Given the description of an element on the screen output the (x, y) to click on. 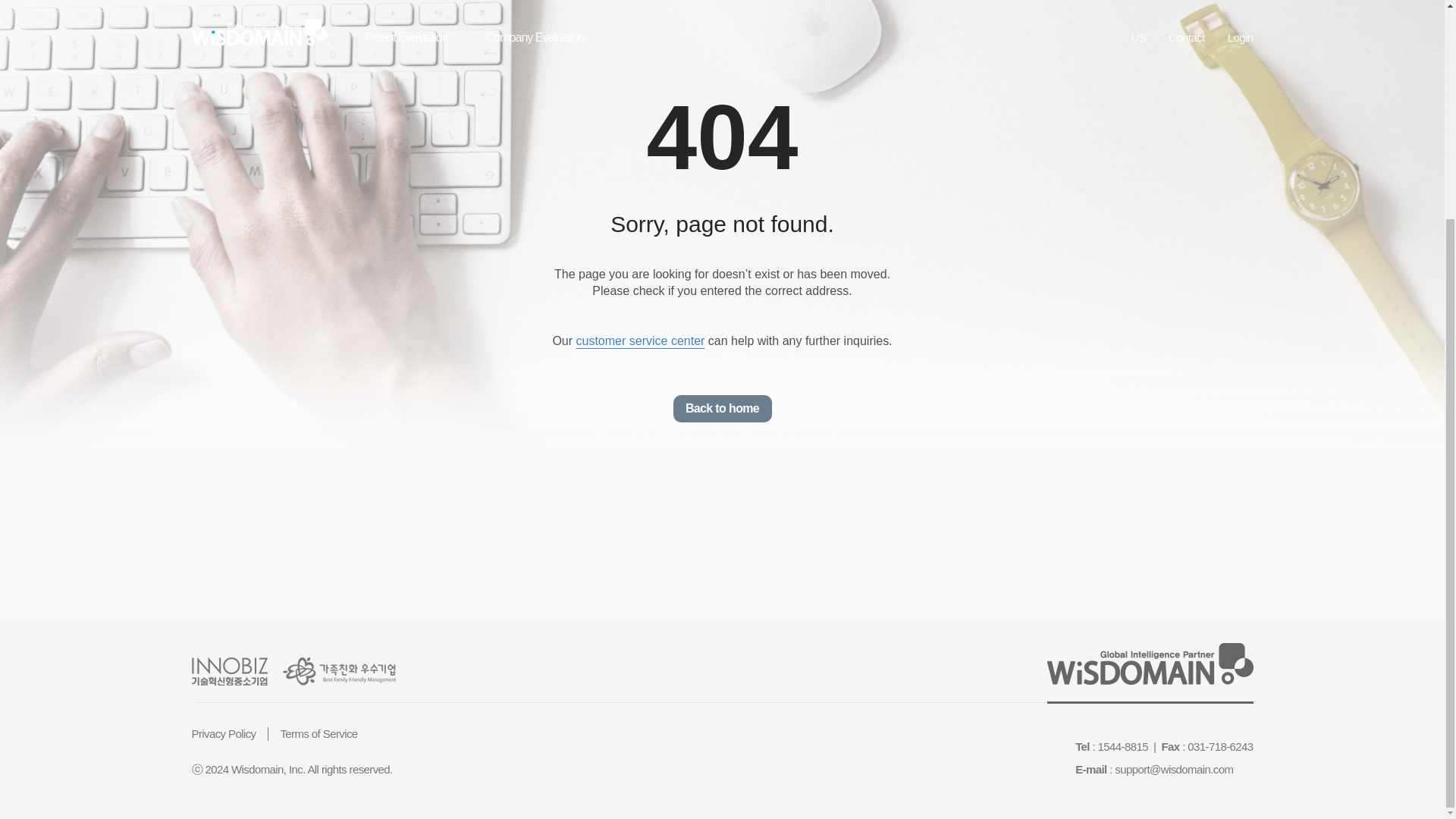
Privacy Policy (223, 733)
customer service center (640, 340)
Back to home (721, 408)
Terms of Service (317, 733)
